Given the description of an element on the screen output the (x, y) to click on. 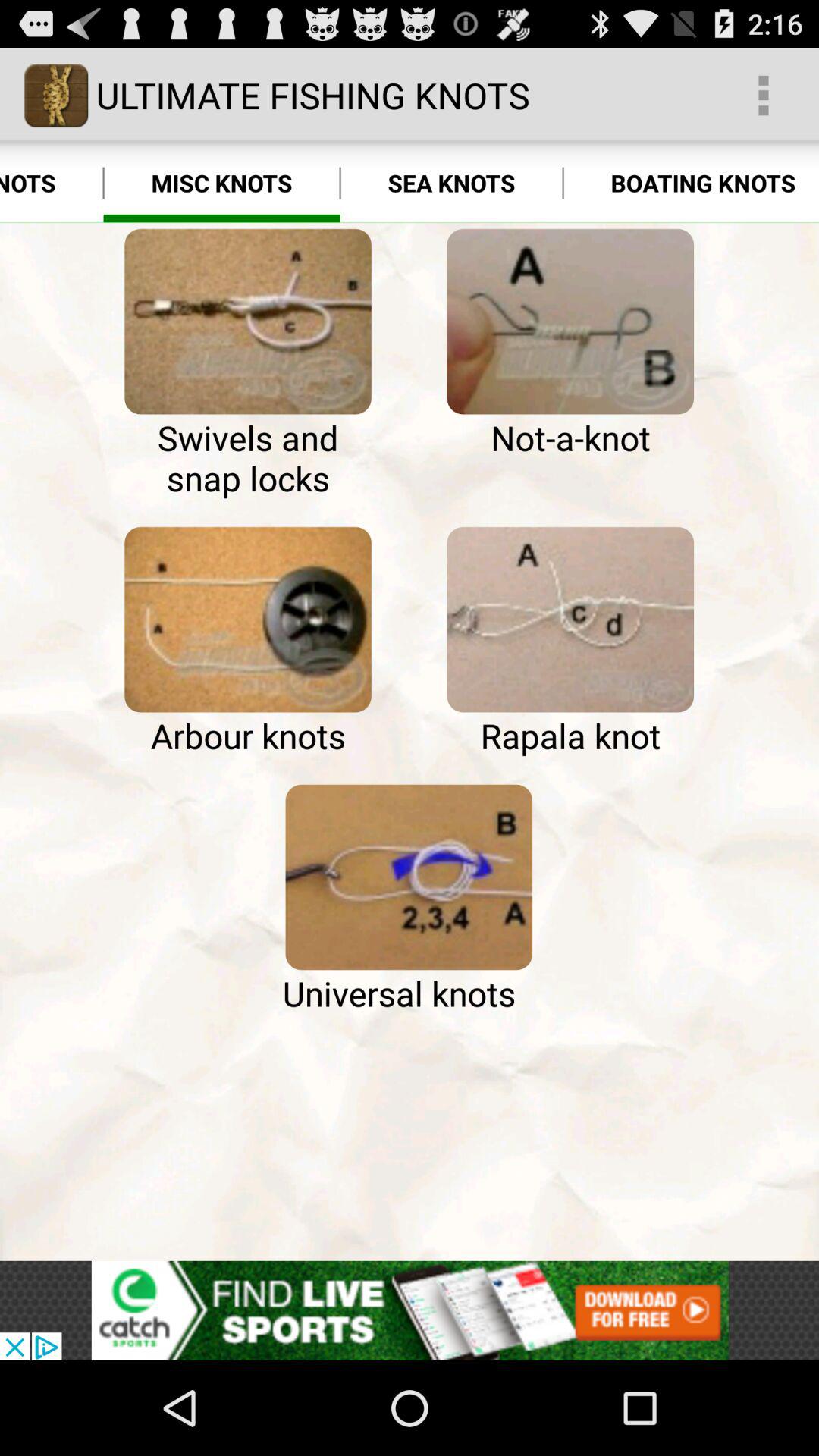
turn off the icon below ultimate fishing knots (221, 182)
